Given the description of an element on the screen output the (x, y) to click on. 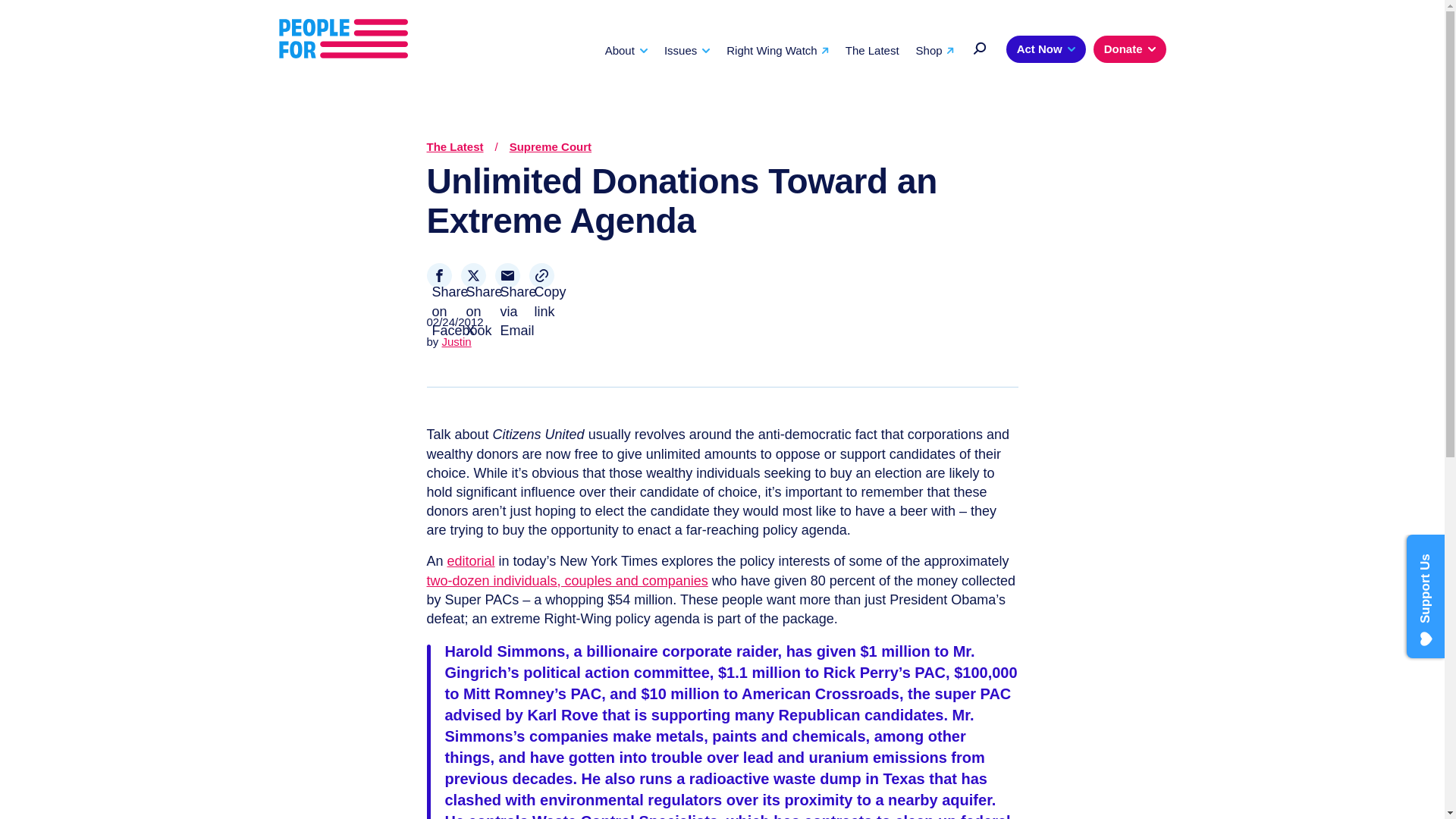
Donate (1129, 49)
Share to X (473, 275)
Act Now (1046, 49)
The Latest (872, 50)
Shop (934, 50)
Share to Facebook (438, 275)
Right Wing Watch (777, 50)
Home (343, 38)
About (626, 50)
Issues (686, 50)
Share to Email (507, 275)
